Given the description of an element on the screen output the (x, y) to click on. 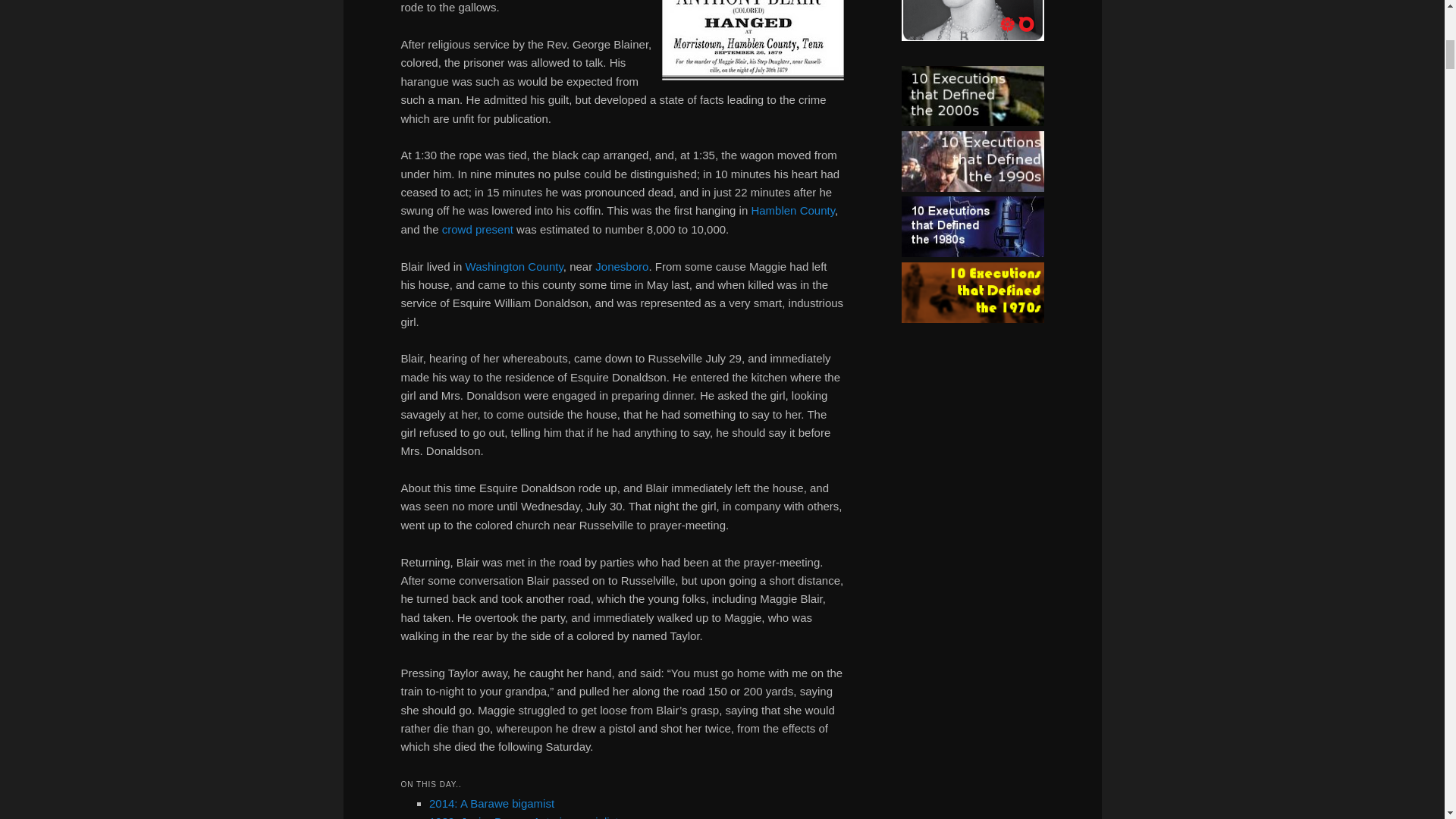
Jonesboro (621, 266)
Hamblen County (792, 210)
Washington County (514, 266)
2014: A Barawe bigamist (491, 802)
crowd present (477, 228)
1939: Javier Bueno, Asturian socialist newsman (549, 816)
